Given the description of an element on the screen output the (x, y) to click on. 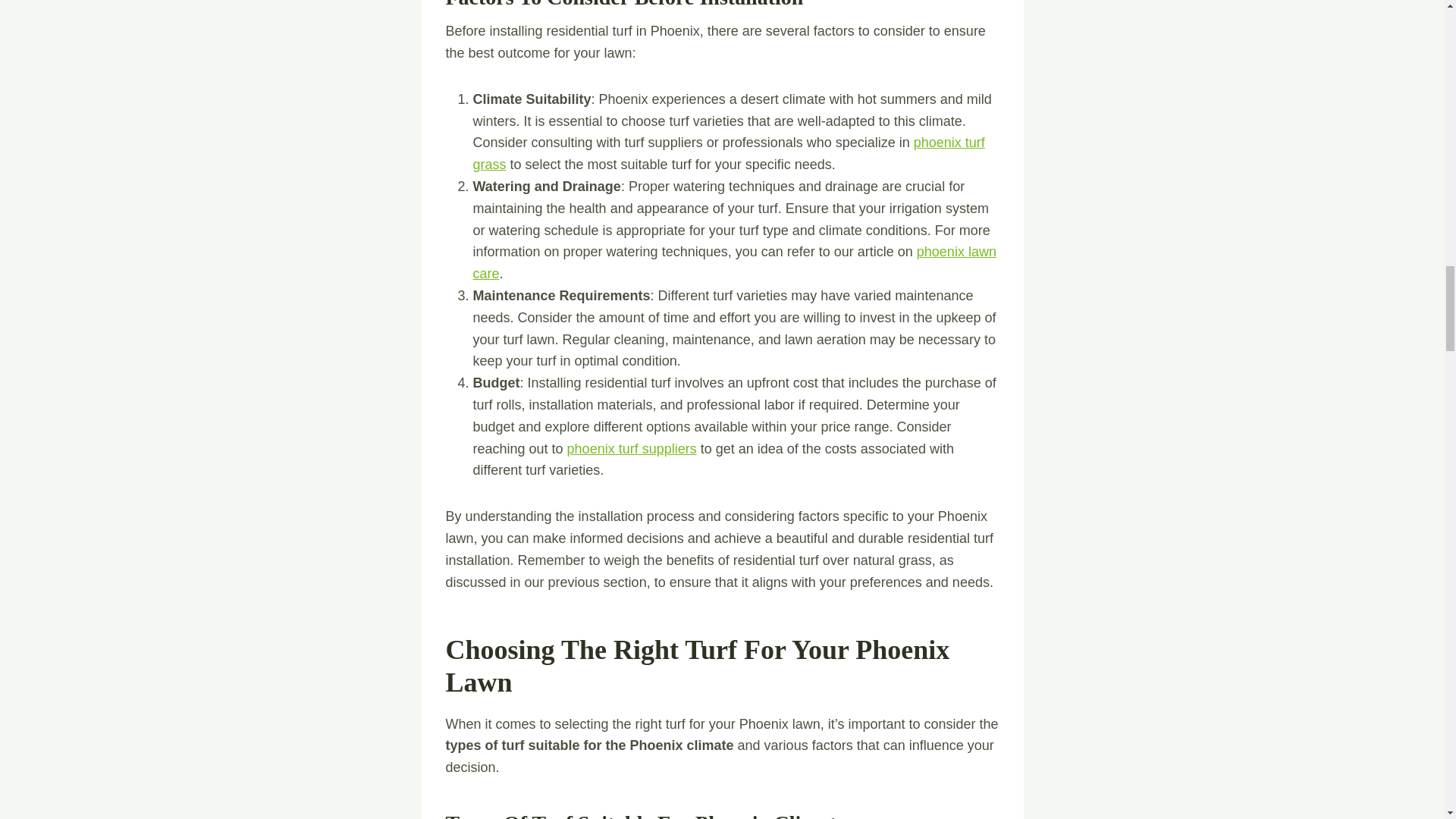
phoenix turf suppliers (632, 448)
phoenix turf grass (729, 153)
phoenix lawn care (734, 262)
